Given the description of an element on the screen output the (x, y) to click on. 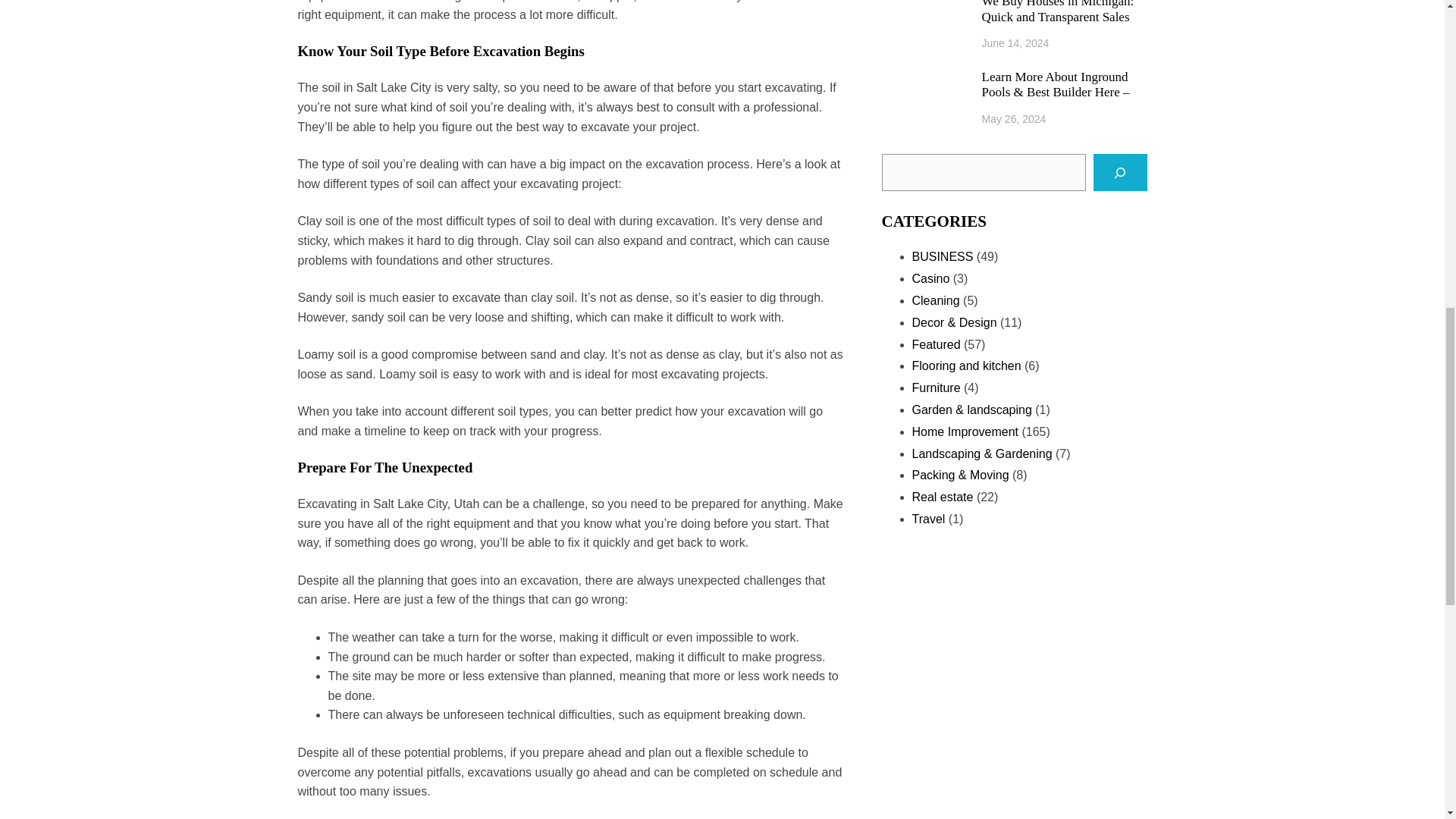
Home Improvement (964, 431)
Featured (935, 344)
Travel (927, 518)
Real estate (941, 496)
We Buy Houses in Michigan: Quick and Transparent Sales (1064, 12)
Cleaning (935, 300)
May 26, 2024 (1013, 119)
BUSINESS (941, 256)
June 14, 2024 (1015, 42)
Flooring and kitchen (965, 365)
Furniture (935, 387)
Casino (930, 278)
